Given the description of an element on the screen output the (x, y) to click on. 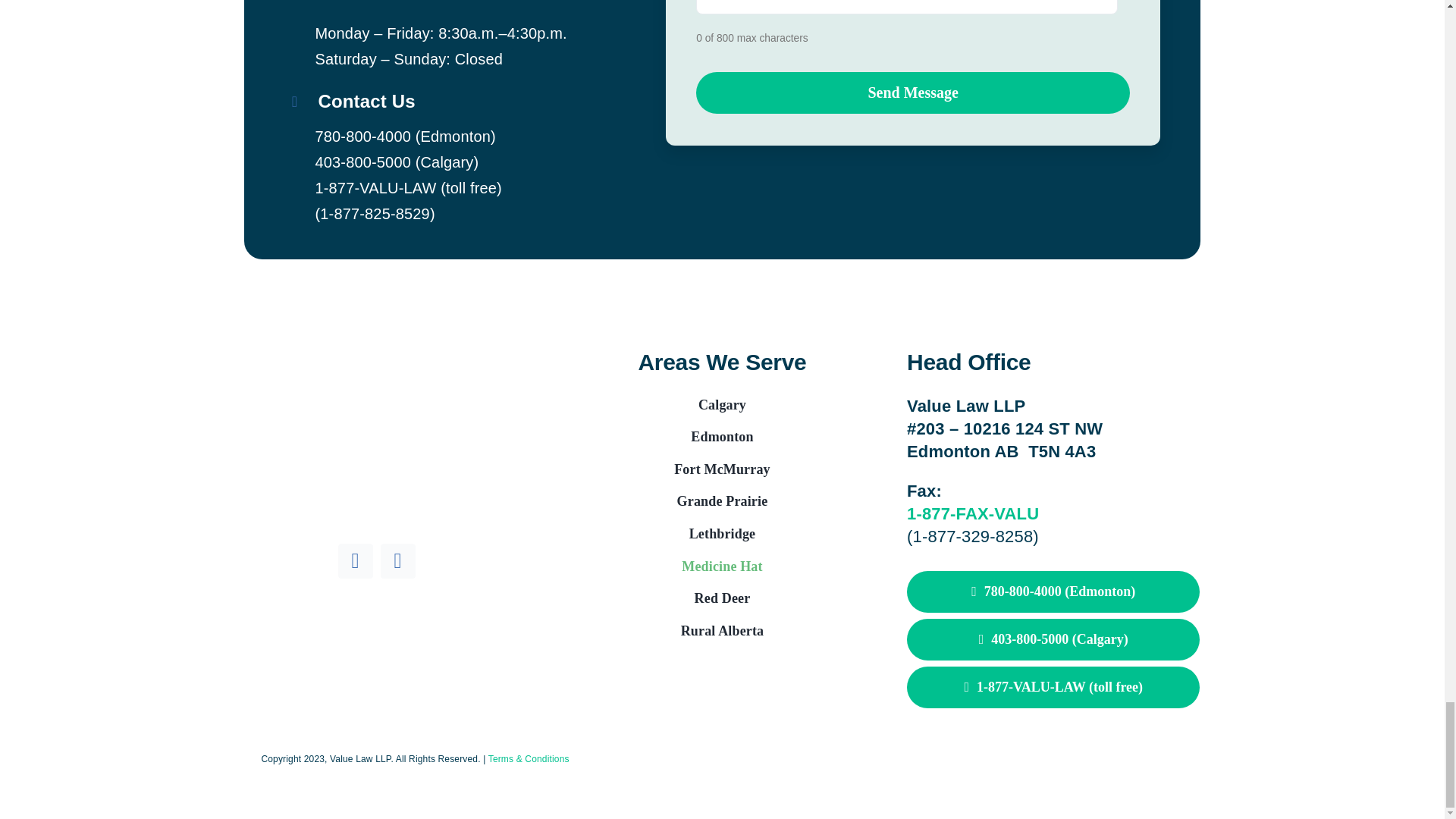
Send Message (912, 92)
